Given the description of an element on the screen output the (x, y) to click on. 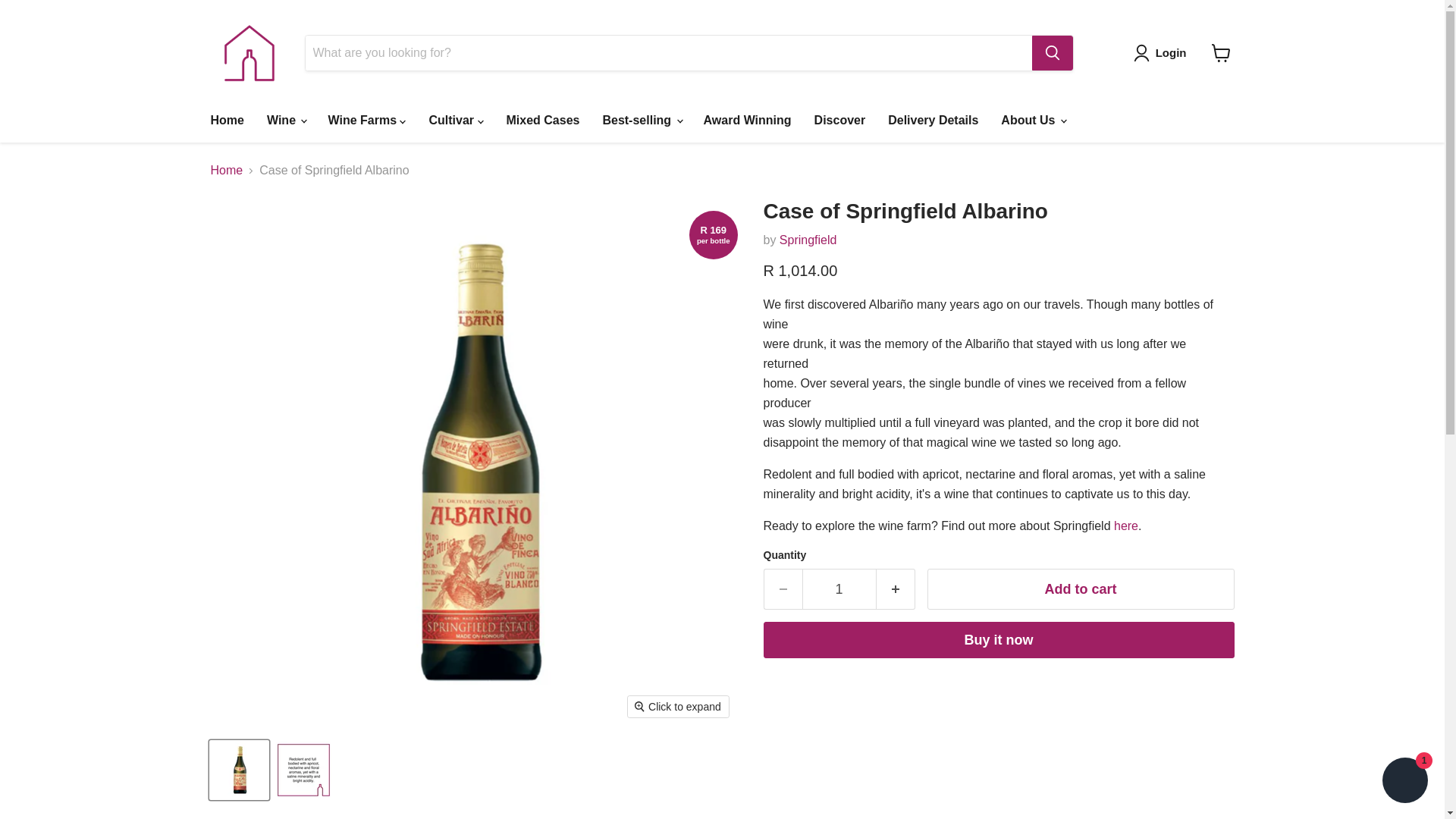
Springfield wine estate (1125, 525)
Springfield (807, 239)
Home (226, 120)
1 (839, 589)
View cart (1221, 52)
Shopify online store chat (1404, 781)
Login (1163, 53)
